Given the description of an element on the screen output the (x, y) to click on. 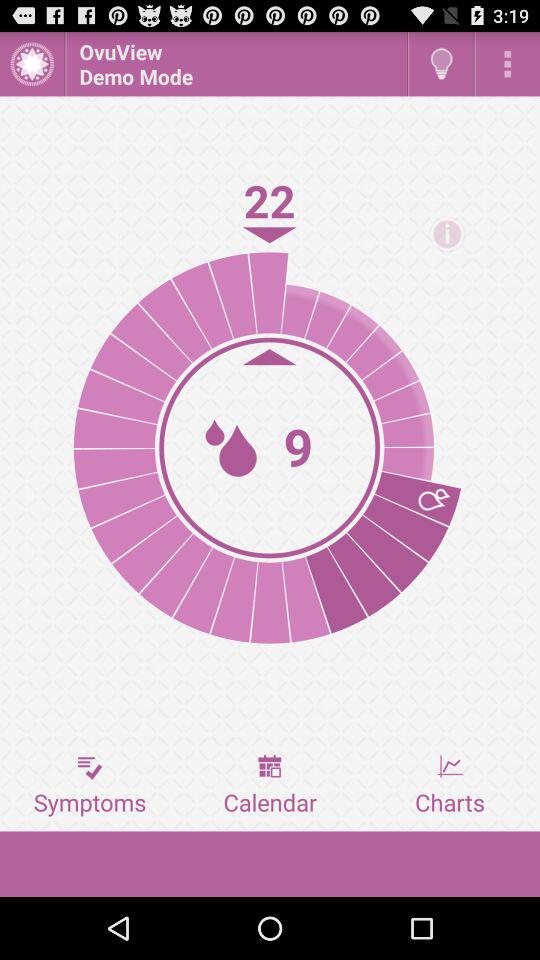
open options (507, 63)
